Given the description of an element on the screen output the (x, y) to click on. 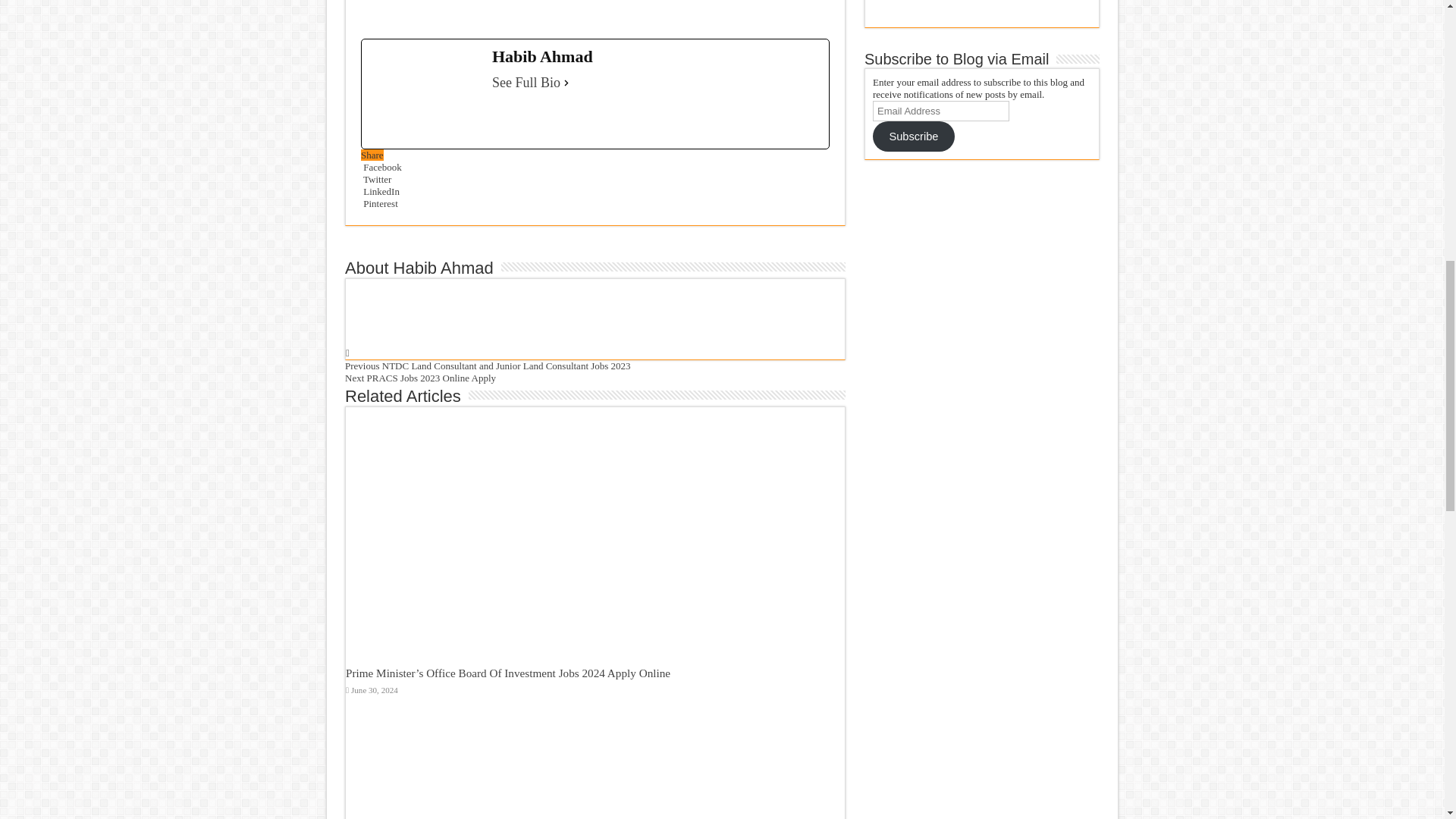
Twitter (376, 179)
LinkedIn (379, 191)
Facebook (381, 166)
Pinterest (379, 203)
See Full Bio (526, 82)
Next PRACS Jobs 2023 Online Apply (420, 378)
